Given the description of an element on the screen output the (x, y) to click on. 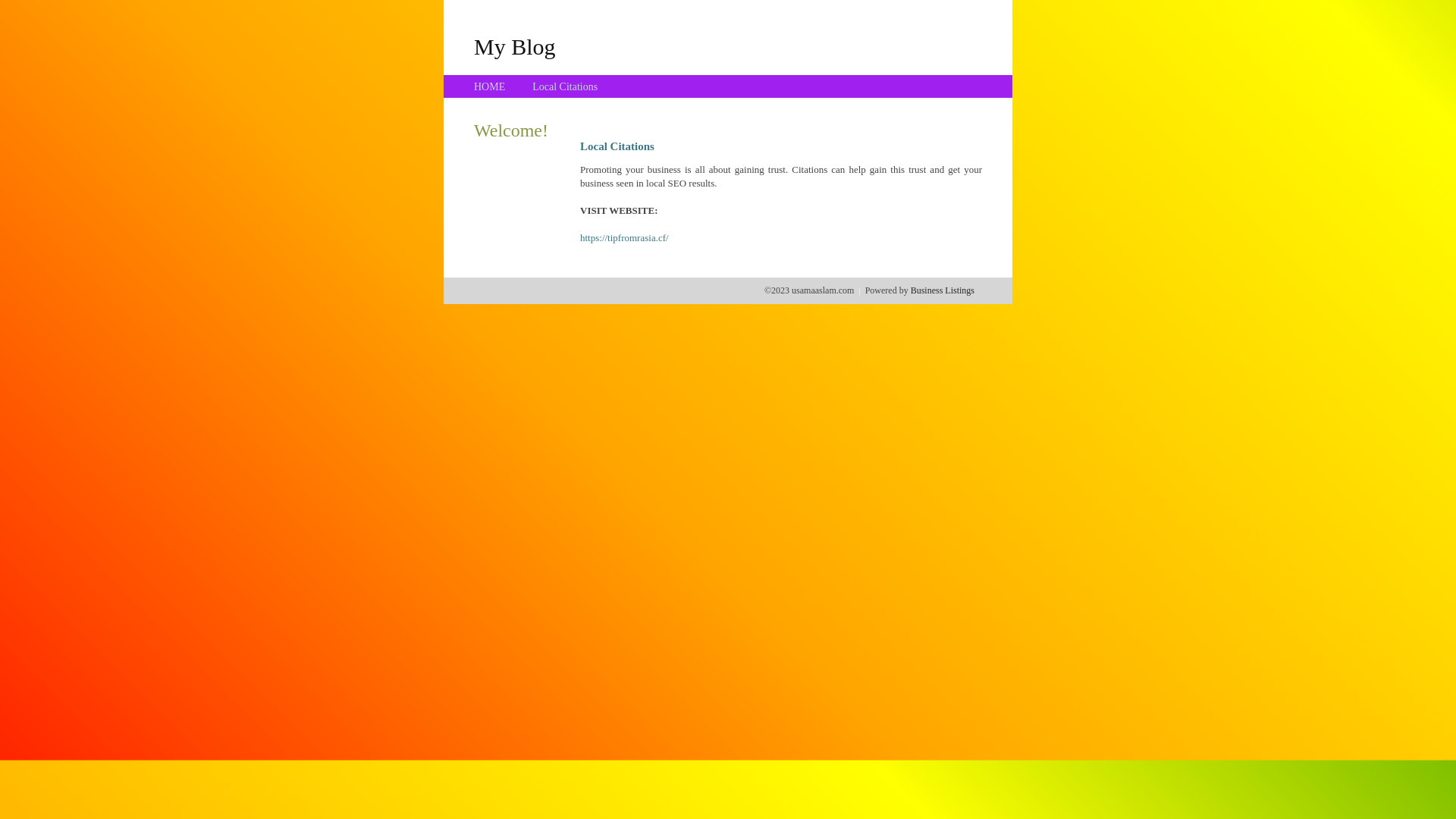
HOME Element type: text (489, 86)
My Blog Element type: text (514, 46)
https://tipfromrasia.cf/ Element type: text (624, 237)
Business Listings Element type: text (942, 290)
Local Citations Element type: text (564, 86)
